Given the description of an element on the screen output the (x, y) to click on. 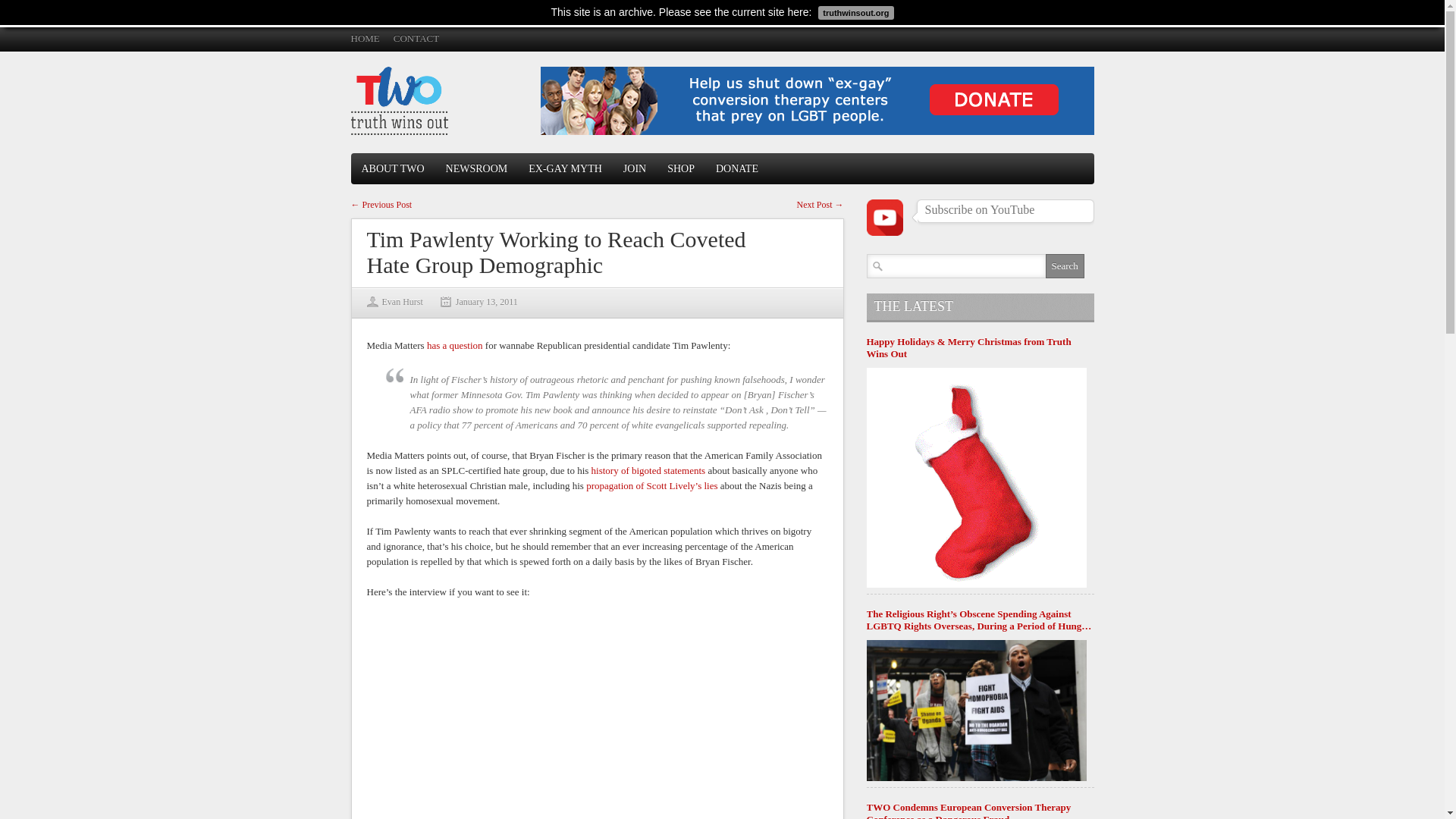
CONTACT (416, 38)
ABOUT TWO (391, 168)
HOME (364, 38)
EX-GAY MYTH (565, 168)
NEWSROOM (476, 168)
history of bigoted statements (648, 470)
Posts by Evan Hurst (402, 301)
Search (1064, 265)
JOIN (634, 168)
SHOP (680, 168)
Search (1064, 265)
Evan Hurst (402, 301)
DONATE (736, 168)
truthwinsout.org (853, 11)
has a question (454, 345)
